Given the description of an element on the screen output the (x, y) to click on. 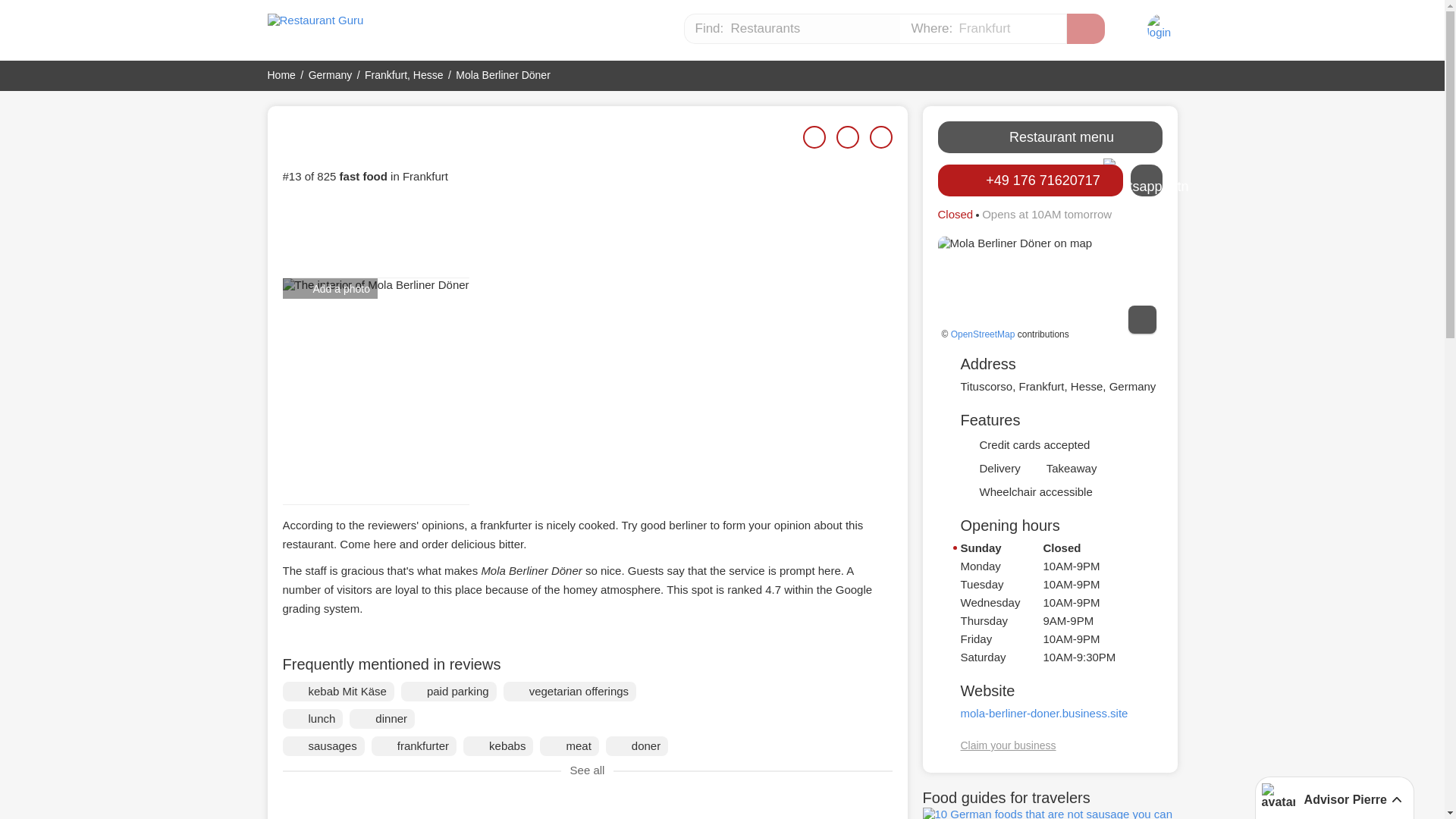
lunch (312, 718)
meat (569, 745)
Claim your business (1007, 745)
Restaurant menu (1049, 137)
dinner (381, 718)
OpenStreetMap (982, 334)
Germany (330, 74)
Restaurants (791, 28)
frankfurter (414, 745)
